Given the description of an element on the screen output the (x, y) to click on. 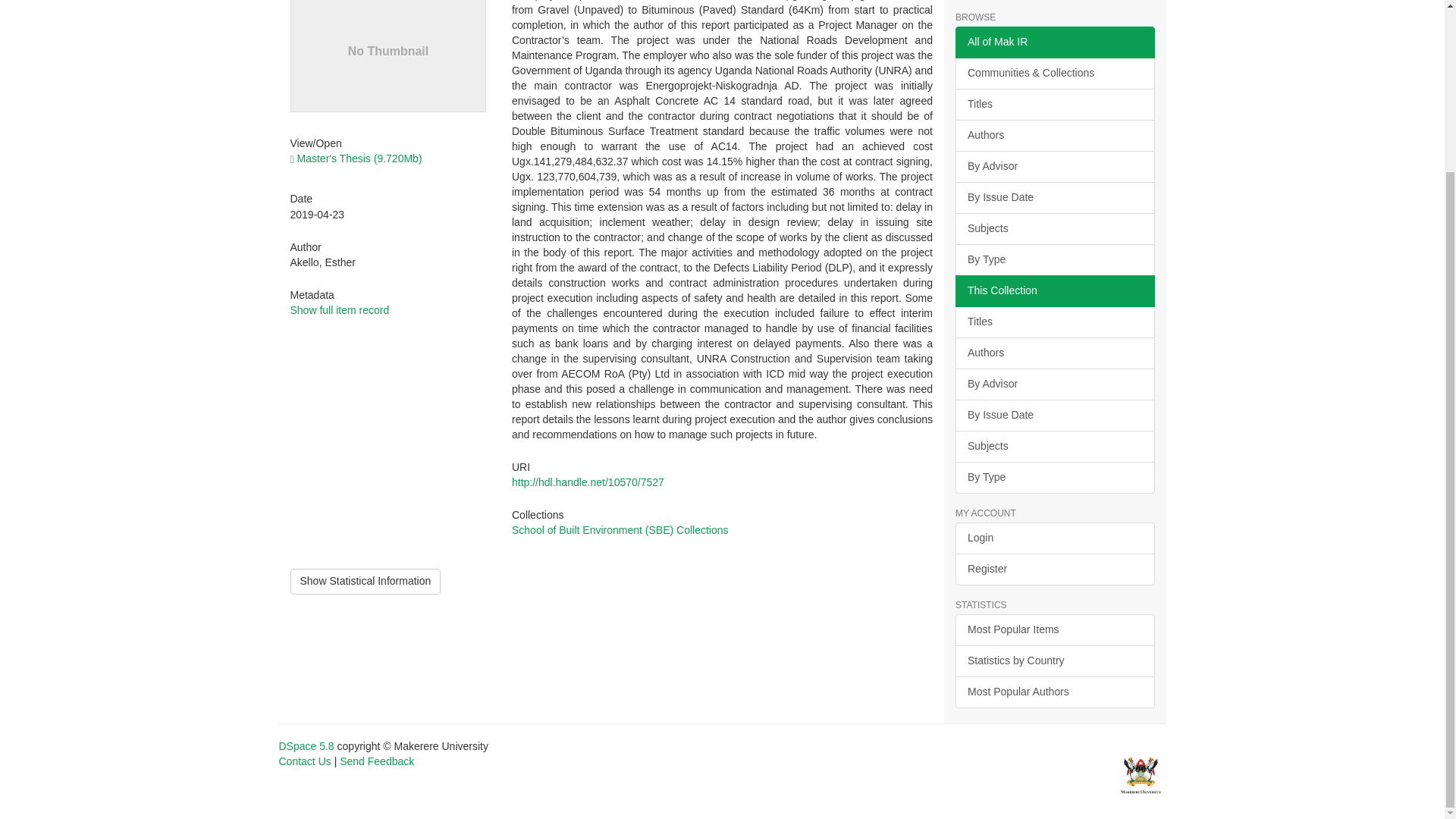
Titles (1054, 322)
All of Mak IR (1054, 42)
Authors (1054, 353)
Titles (1054, 104)
Atmire NV (1141, 775)
Authors (1054, 135)
By Advisor (1054, 166)
By Type (1054, 260)
Show full item record (338, 309)
By Advisor (1054, 384)
This Collection (1054, 291)
Subjects (1054, 228)
By Issue Date (1054, 197)
Show Statistical Information (365, 581)
By Issue Date (1054, 415)
